Given the description of an element on the screen output the (x, y) to click on. 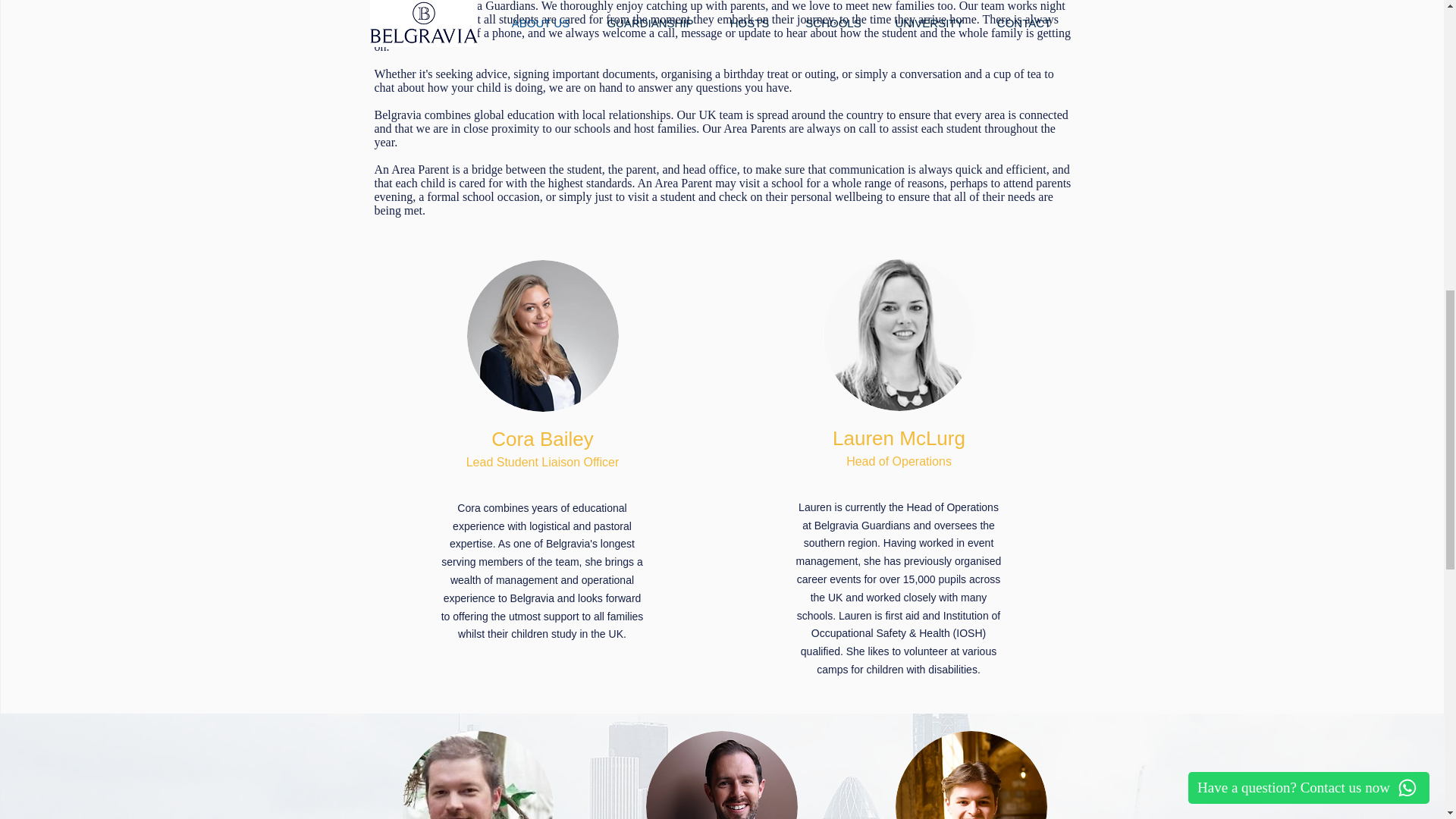
GettyImages-535587703.jpg (477, 775)
GettyImages-535587703.jpg (899, 335)
GettyImages-535587703.jpg (970, 775)
GettyImages-535587703.jpg (542, 335)
GettyImages-535587703.jpg (721, 775)
